Given the description of an element on the screen output the (x, y) to click on. 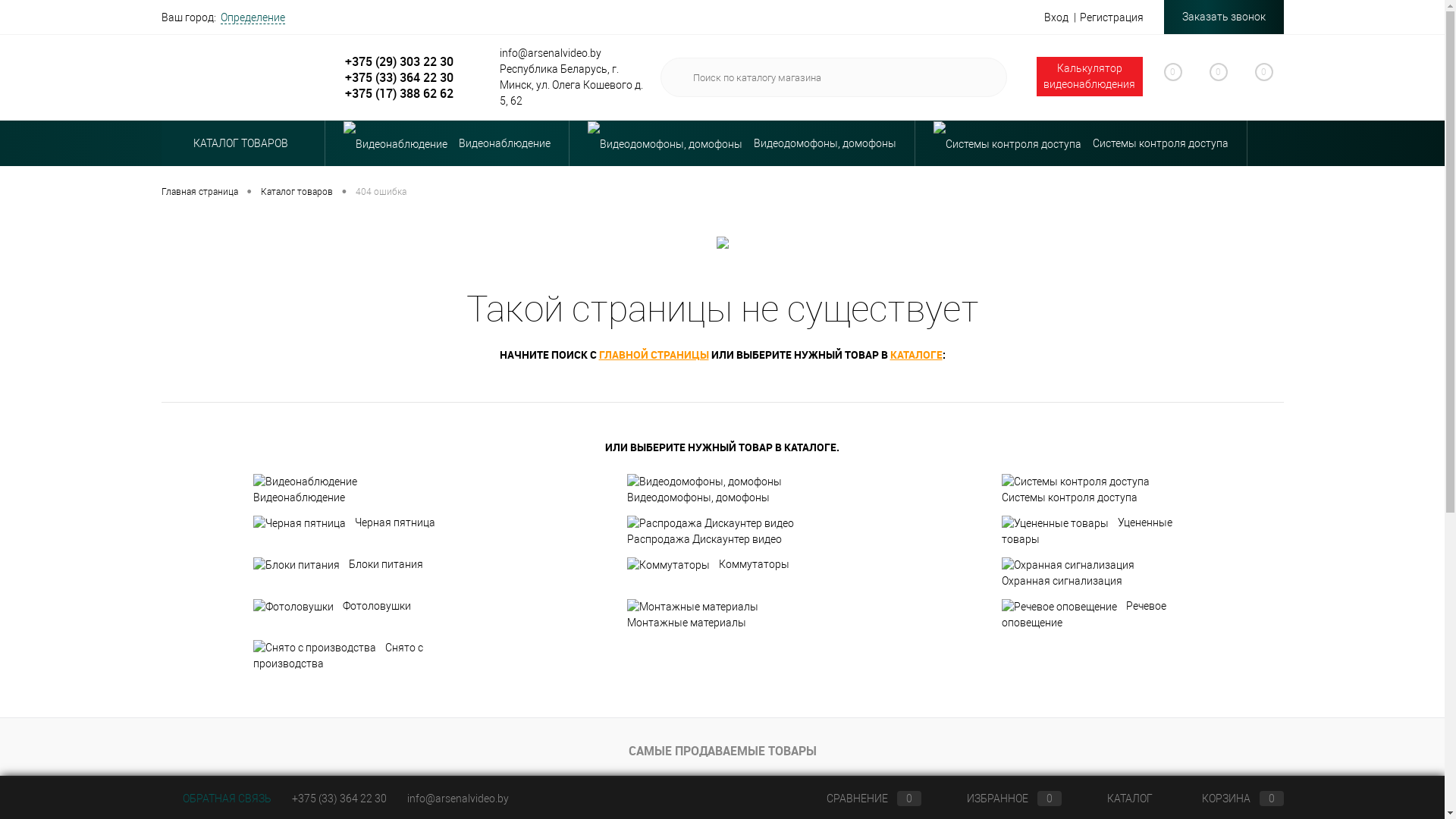
0 Element type: text (1210, 79)
+375 (33) 364 22 30 Element type: text (338, 798)
0 Element type: text (1164, 79)
Y Element type: text (983, 78)
0 Element type: text (1255, 77)
info@arsenalvideo.by Element type: text (457, 798)
